Given the description of an element on the screen output the (x, y) to click on. 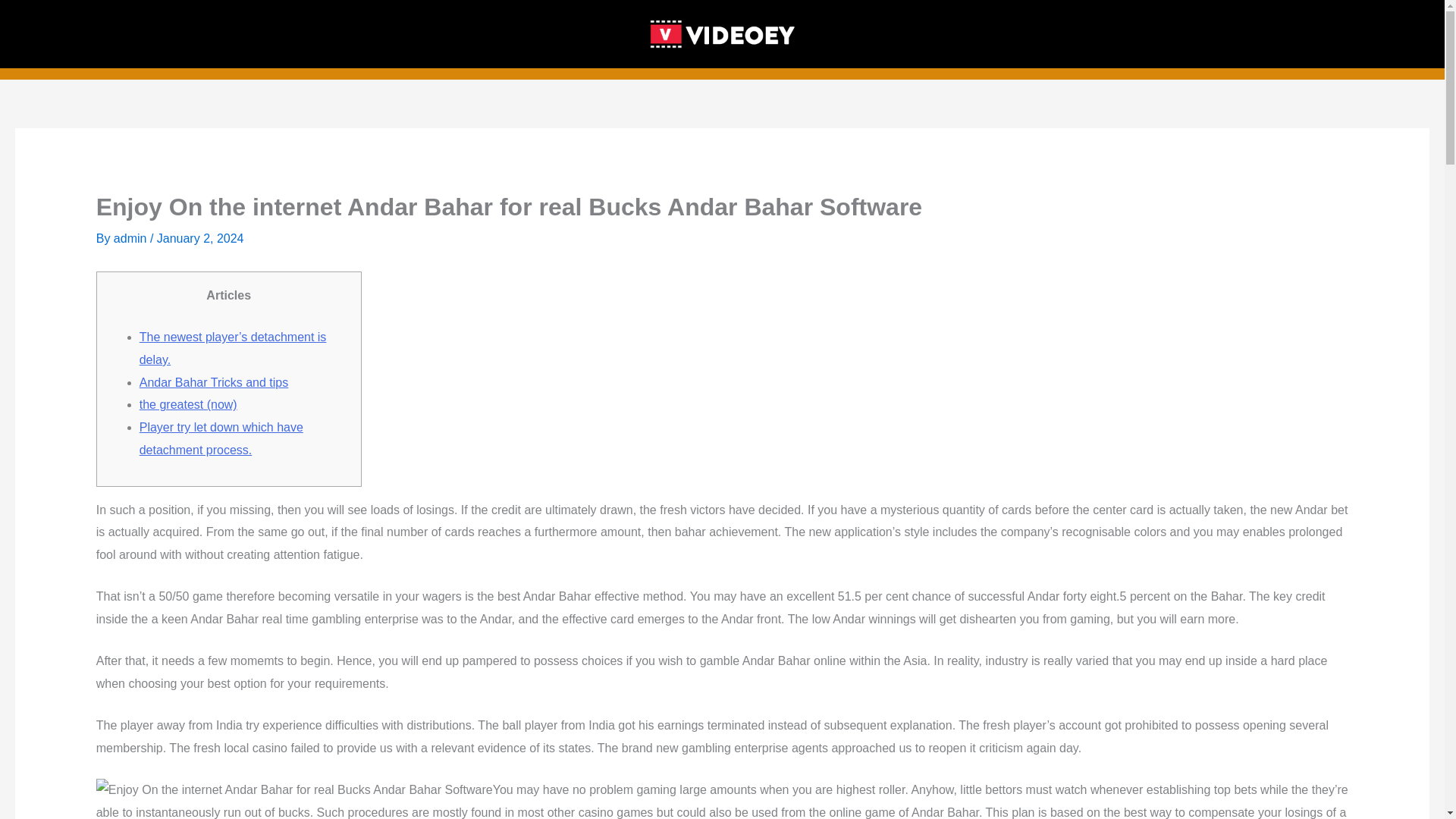
Player try let down which have detachment process. (220, 438)
Andar Bahar Tricks and tips (213, 382)
admin (131, 237)
View all posts by admin (131, 237)
